Given the description of an element on the screen output the (x, y) to click on. 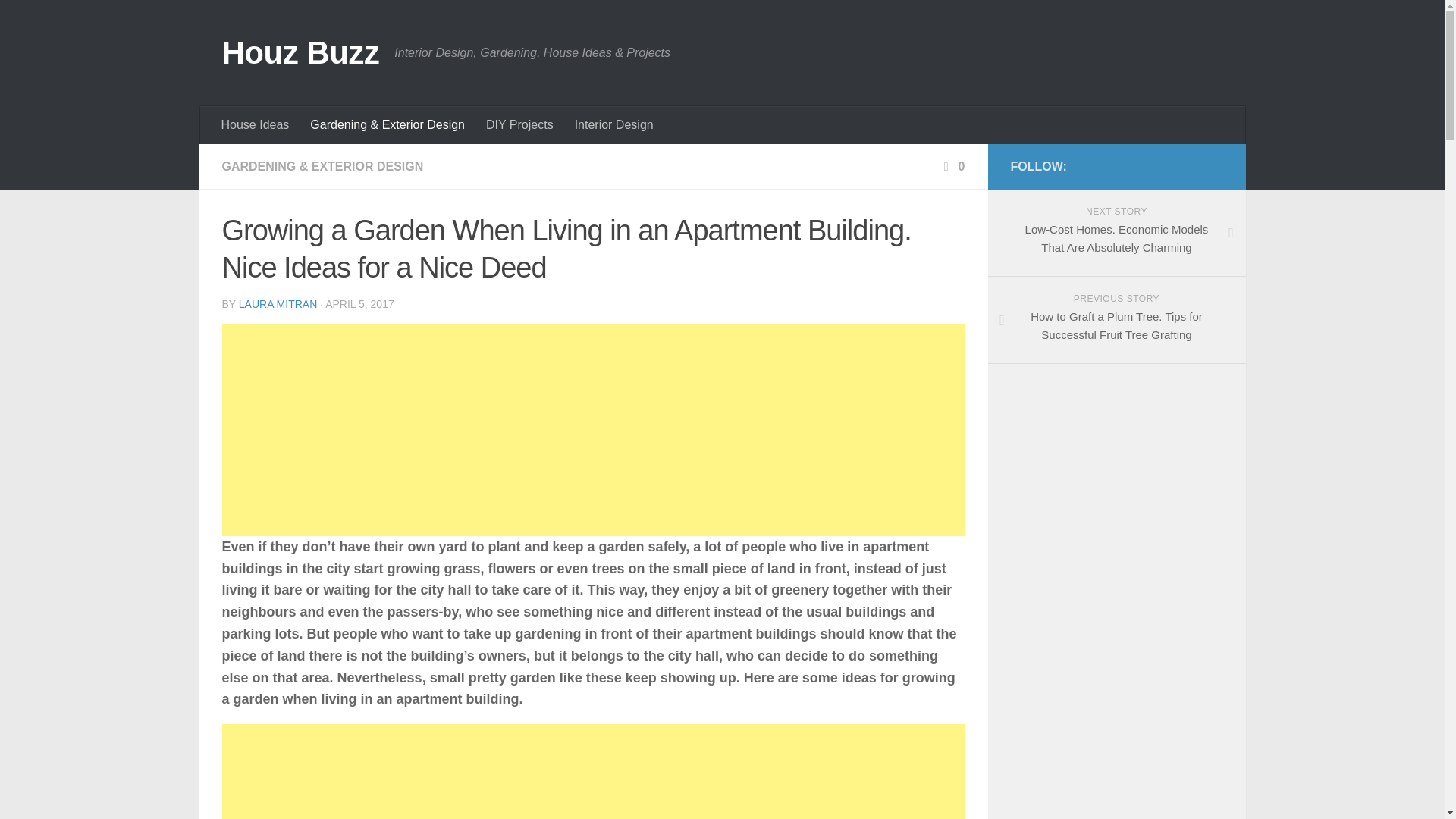
0 (952, 165)
Interior Design (613, 125)
Advertisement (592, 771)
DIY Projects (520, 125)
LAURA MITRAN (277, 304)
Houz Buzz (299, 53)
Posts by Laura Mitran (277, 304)
